Given the description of an element on the screen output the (x, y) to click on. 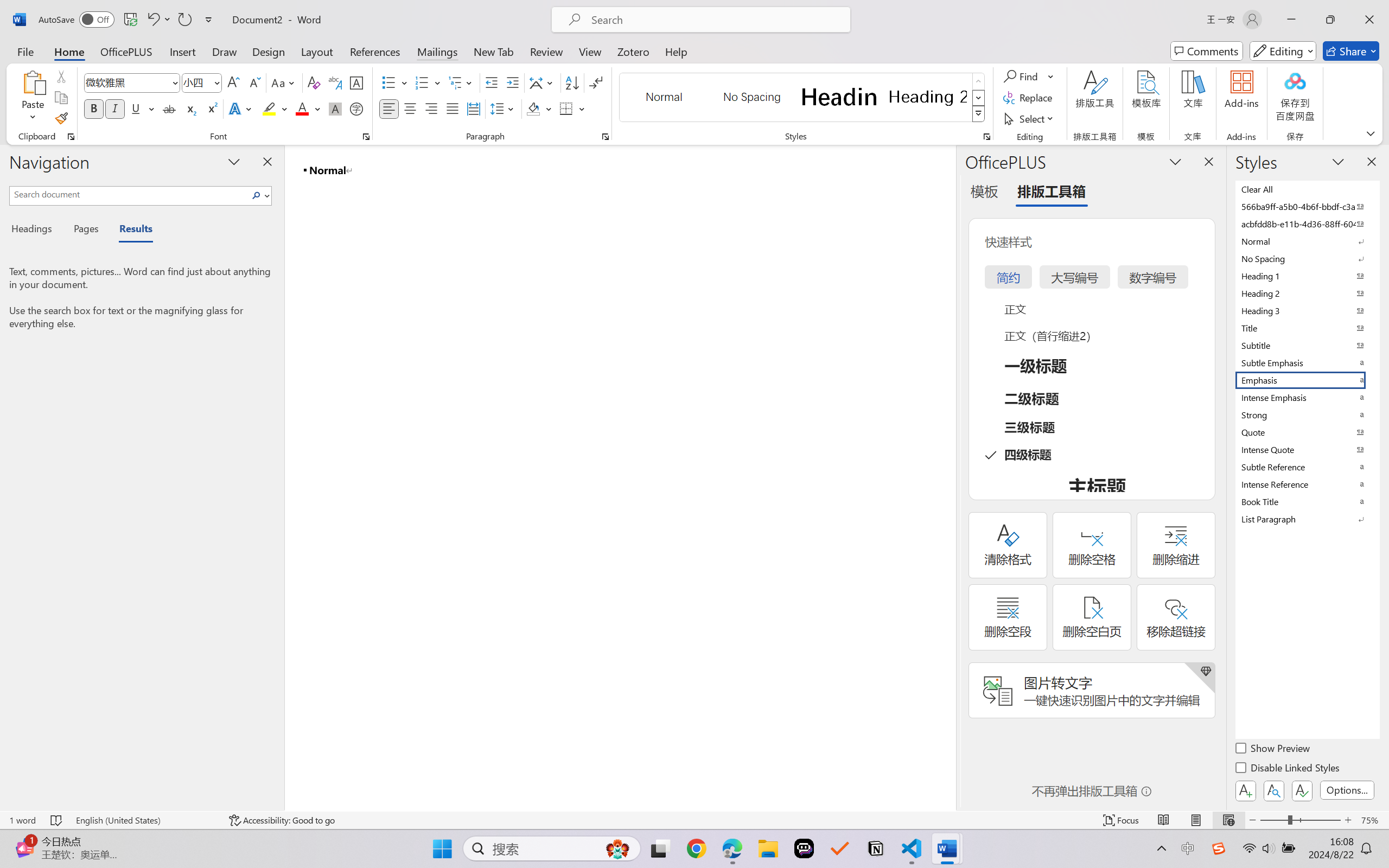
Asian Layout (542, 82)
Title (1306, 327)
Class: Image (1218, 847)
Text Effects and Typography (241, 108)
Show Preview (1273, 749)
Font Color Red (302, 108)
Change Case (284, 82)
Sort... (571, 82)
Word Count 1 word (21, 819)
Bold (94, 108)
Strong (1306, 414)
